Given the description of an element on the screen output the (x, y) to click on. 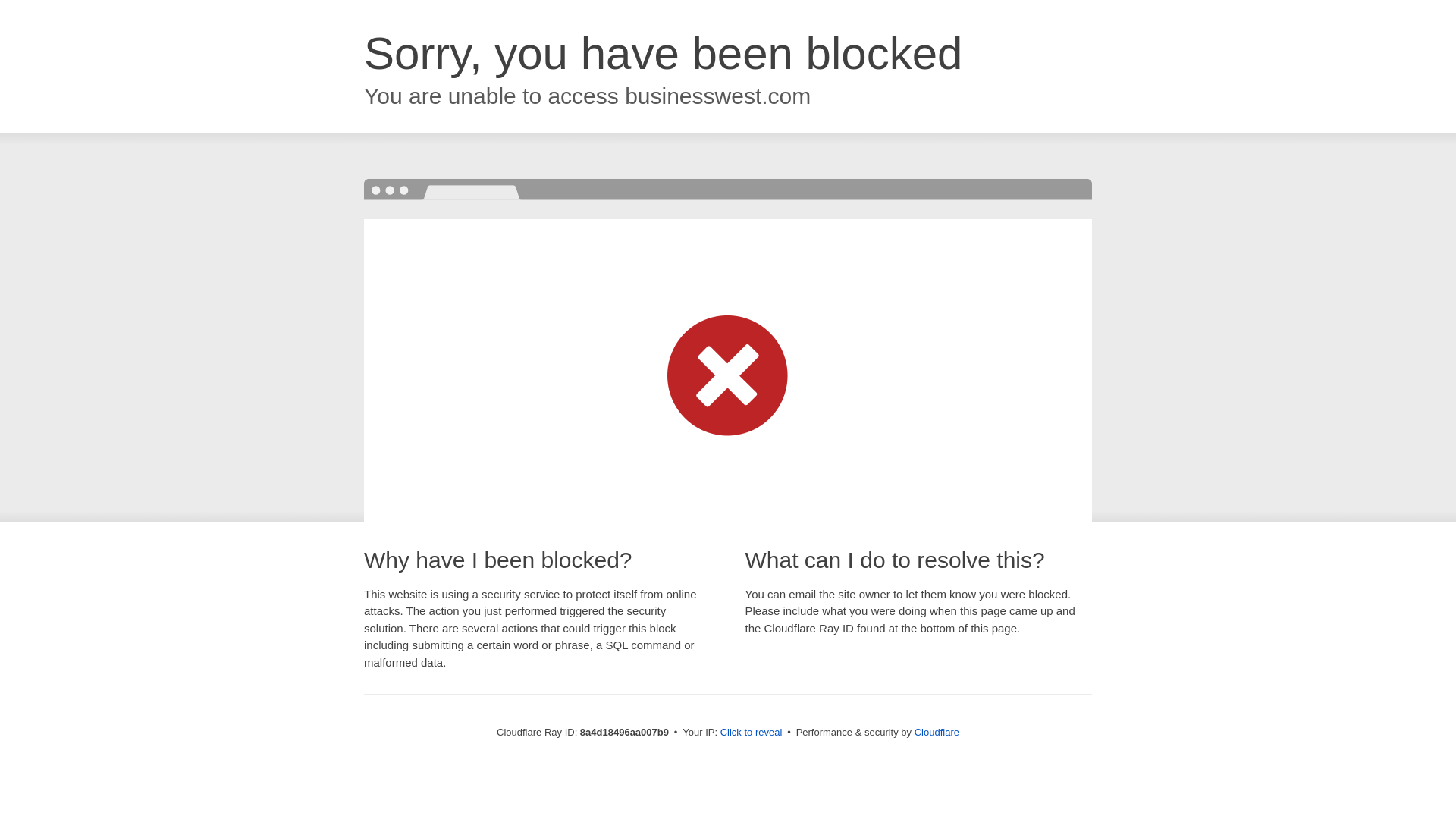
Click to reveal (751, 732)
Cloudflare (936, 731)
